Given the description of an element on the screen output the (x, y) to click on. 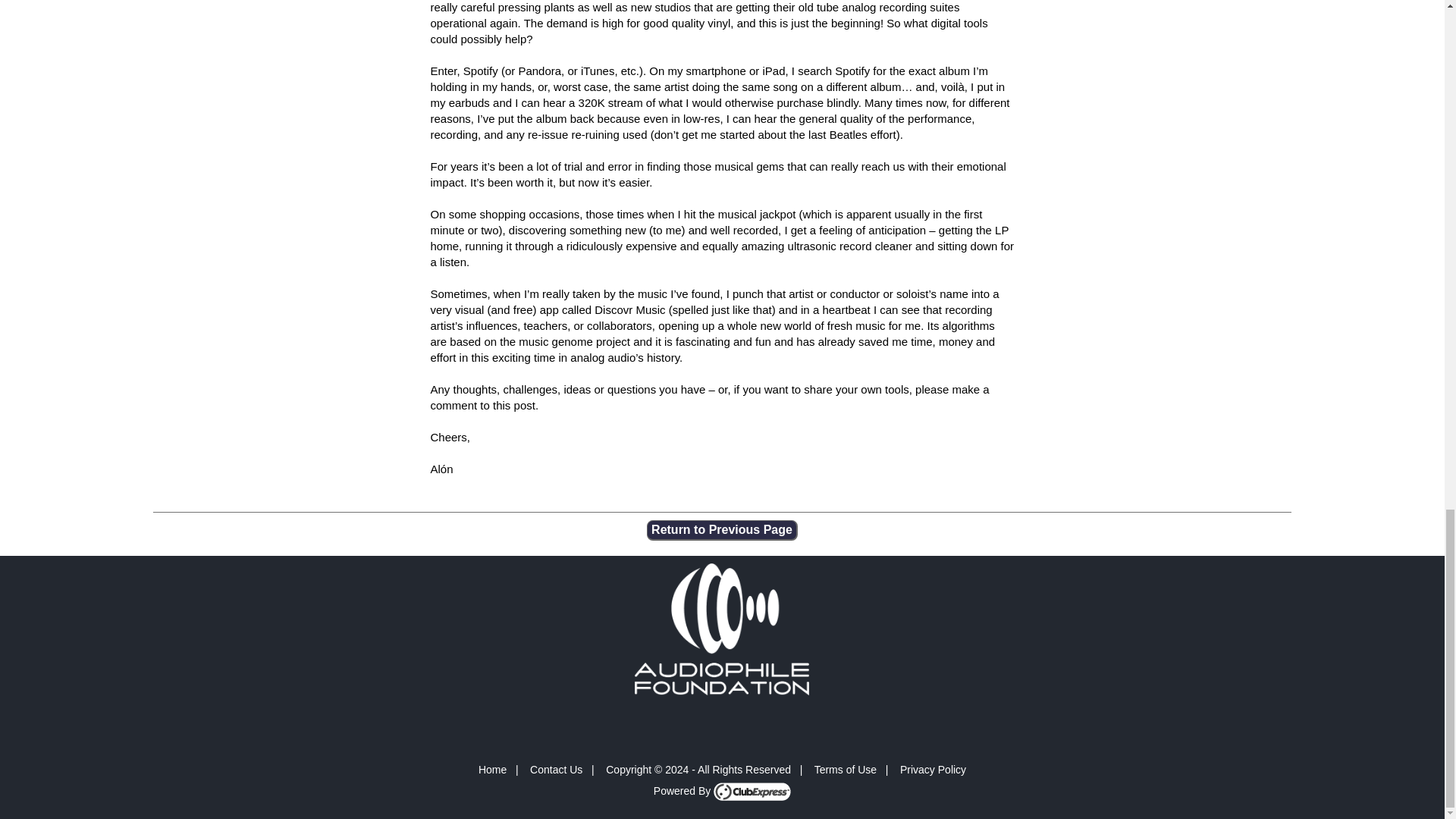
Visit us on Instagram (709, 722)
Visit us on Facebook (687, 722)
Click here for more sharing options (755, 722)
Return to Previous Page (721, 530)
Visit us on YouTube (732, 722)
